Given the description of an element on the screen output the (x, y) to click on. 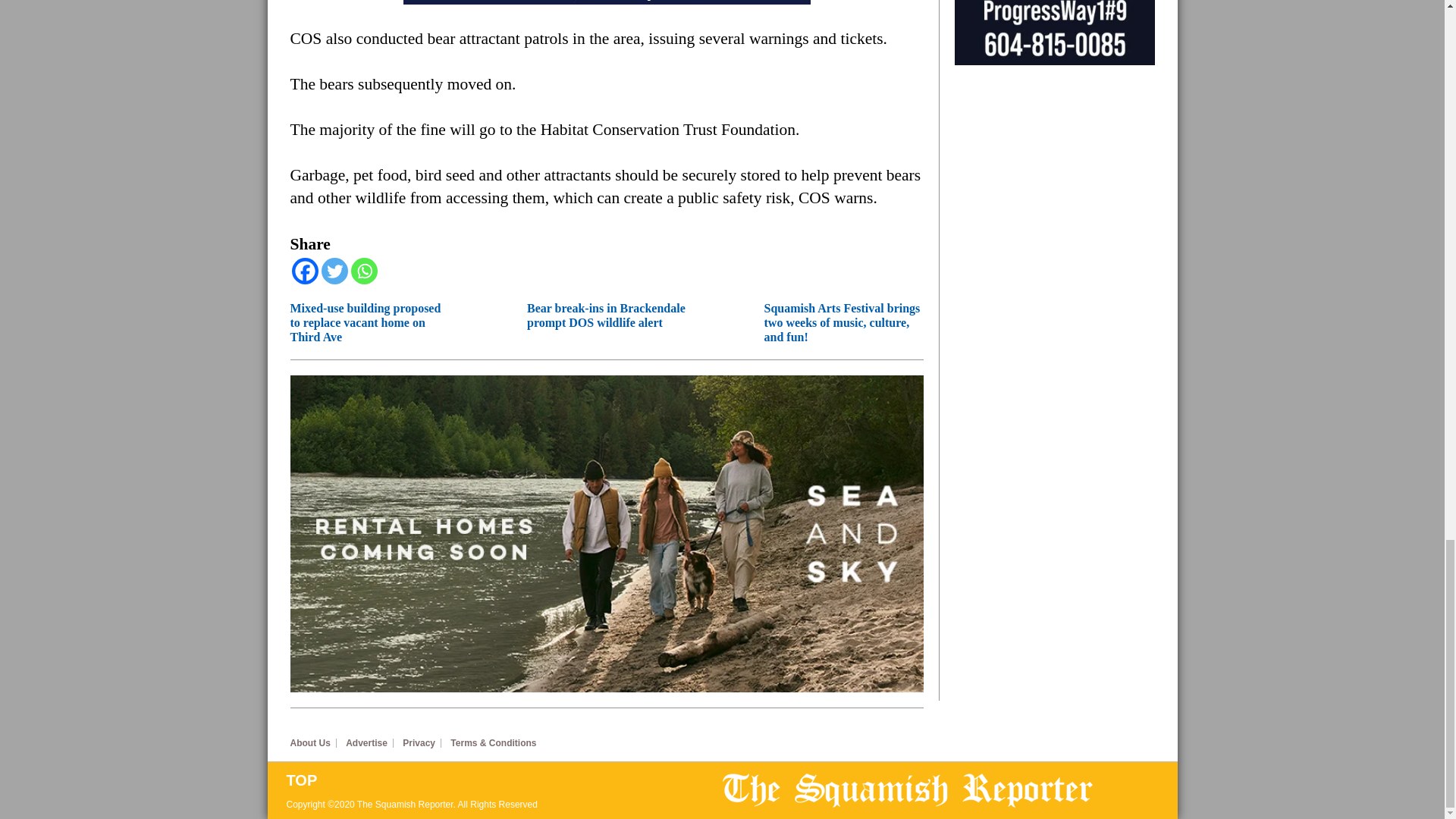
About Us (312, 742)
Advertise (369, 742)
Back To Top (504, 780)
Whatsapp (363, 270)
Twitter (334, 270)
Facebook (304, 270)
Privacy (422, 742)
